Given the description of an element on the screen output the (x, y) to click on. 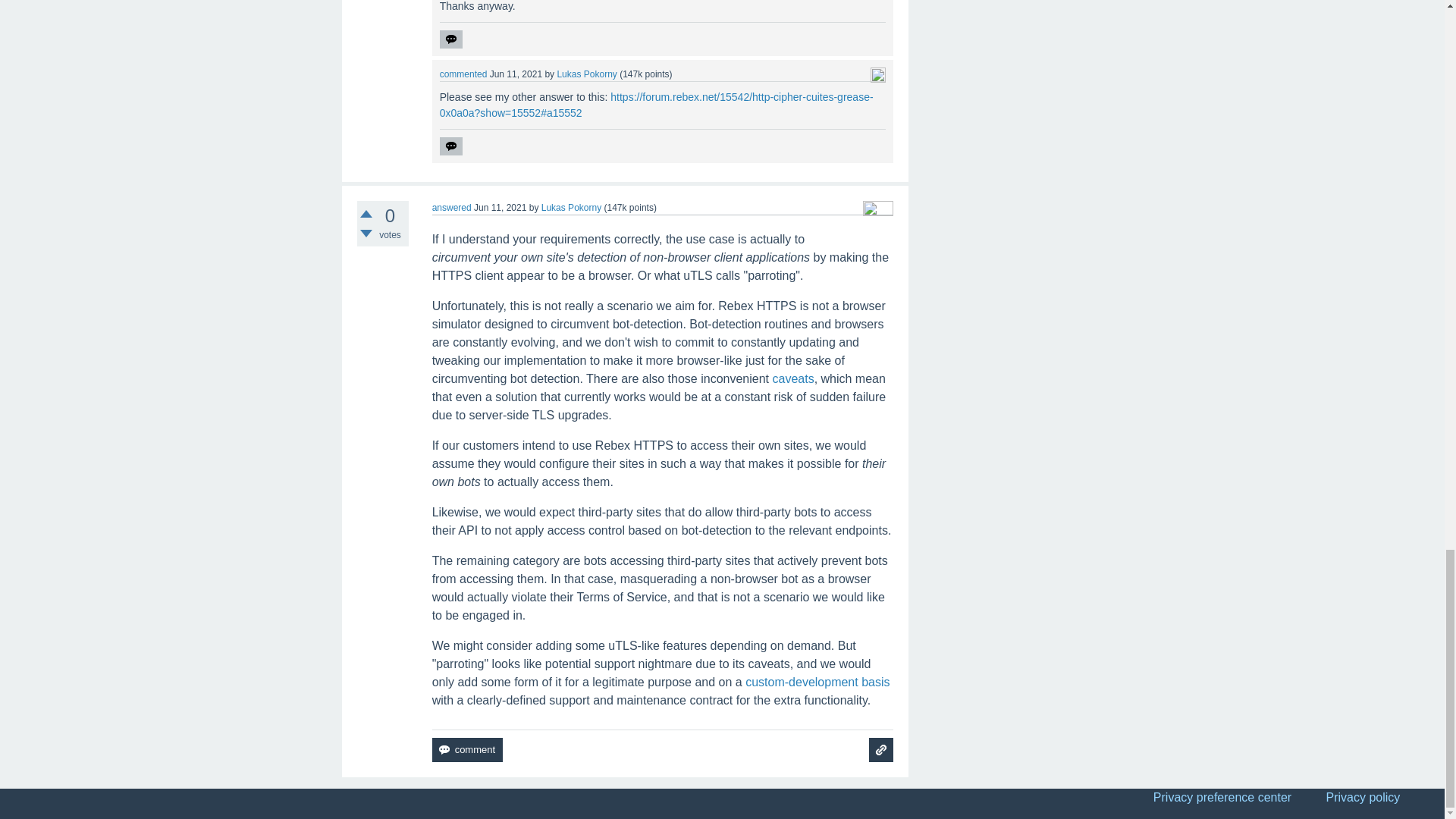
Reply to this comment (451, 146)
reply (451, 39)
ask related question (881, 749)
comment (467, 749)
Reply to this comment (451, 39)
reply (451, 146)
